Given the description of an element on the screen output the (x, y) to click on. 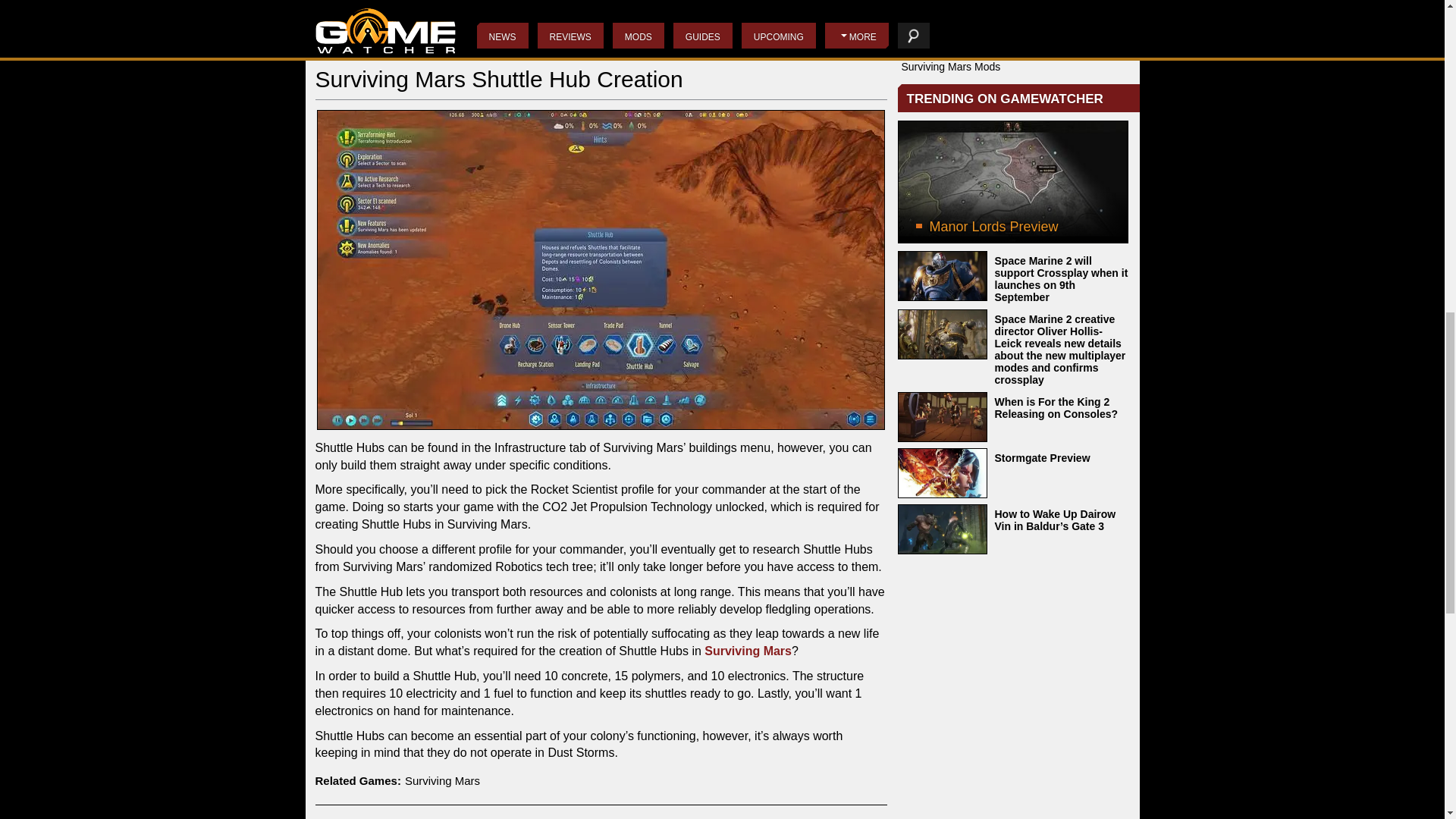
Surviving Mars (748, 650)
Surviving Mars (442, 780)
Surviving Mars Updates (957, 3)
